Given the description of an element on the screen output the (x, y) to click on. 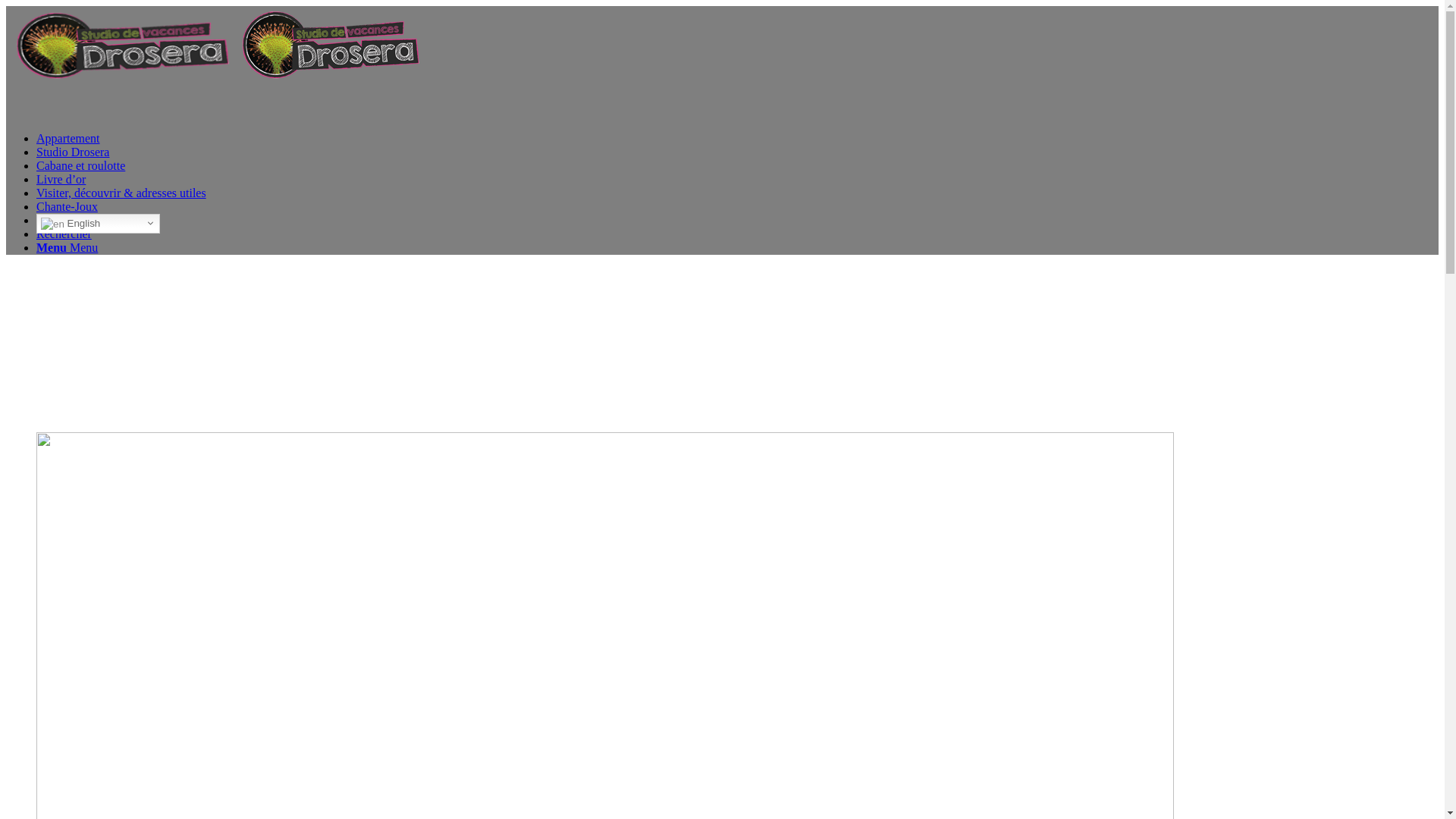
Studio Drosera Element type: text (72, 151)
English Element type: text (98, 223)
Menu Menu Element type: text (66, 247)
Appartement Element type: text (68, 137)
Rechercher Element type: text (63, 233)
Cabane et roulotte Element type: text (80, 165)
drossera_logo_pt Element type: hover (328, 44)
drossera_logo_pt Element type: hover (119, 45)
Chante-Joux Element type: text (66, 206)
